Given the description of an element on the screen output the (x, y) to click on. 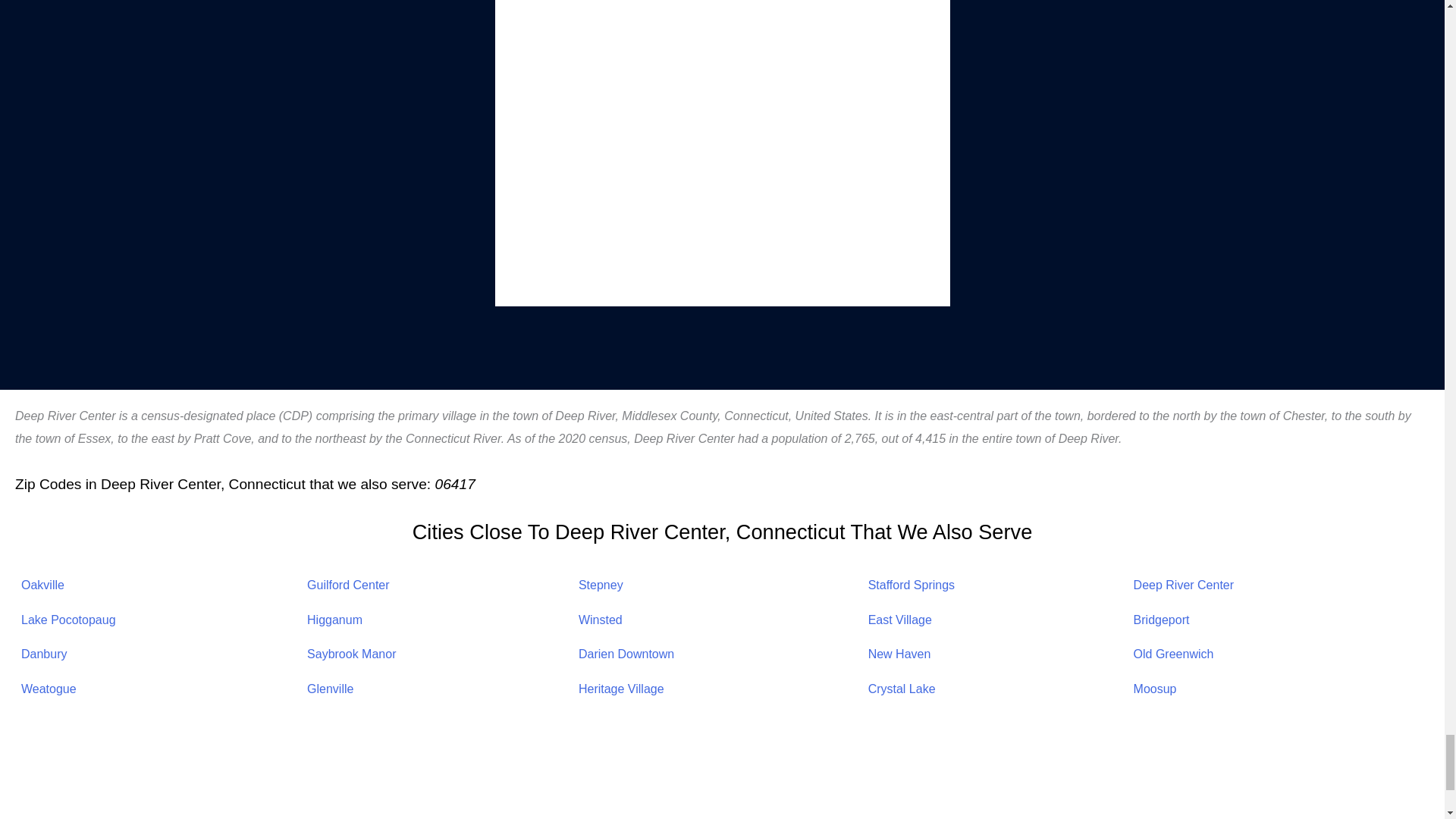
Stepney (600, 584)
Deep River Center (1184, 584)
Oakville (42, 584)
Winsted (600, 619)
Guilford Center (348, 584)
Higganum (334, 619)
Lake Pocotopaug (68, 619)
Stafford Springs (911, 584)
